Given the description of an element on the screen output the (x, y) to click on. 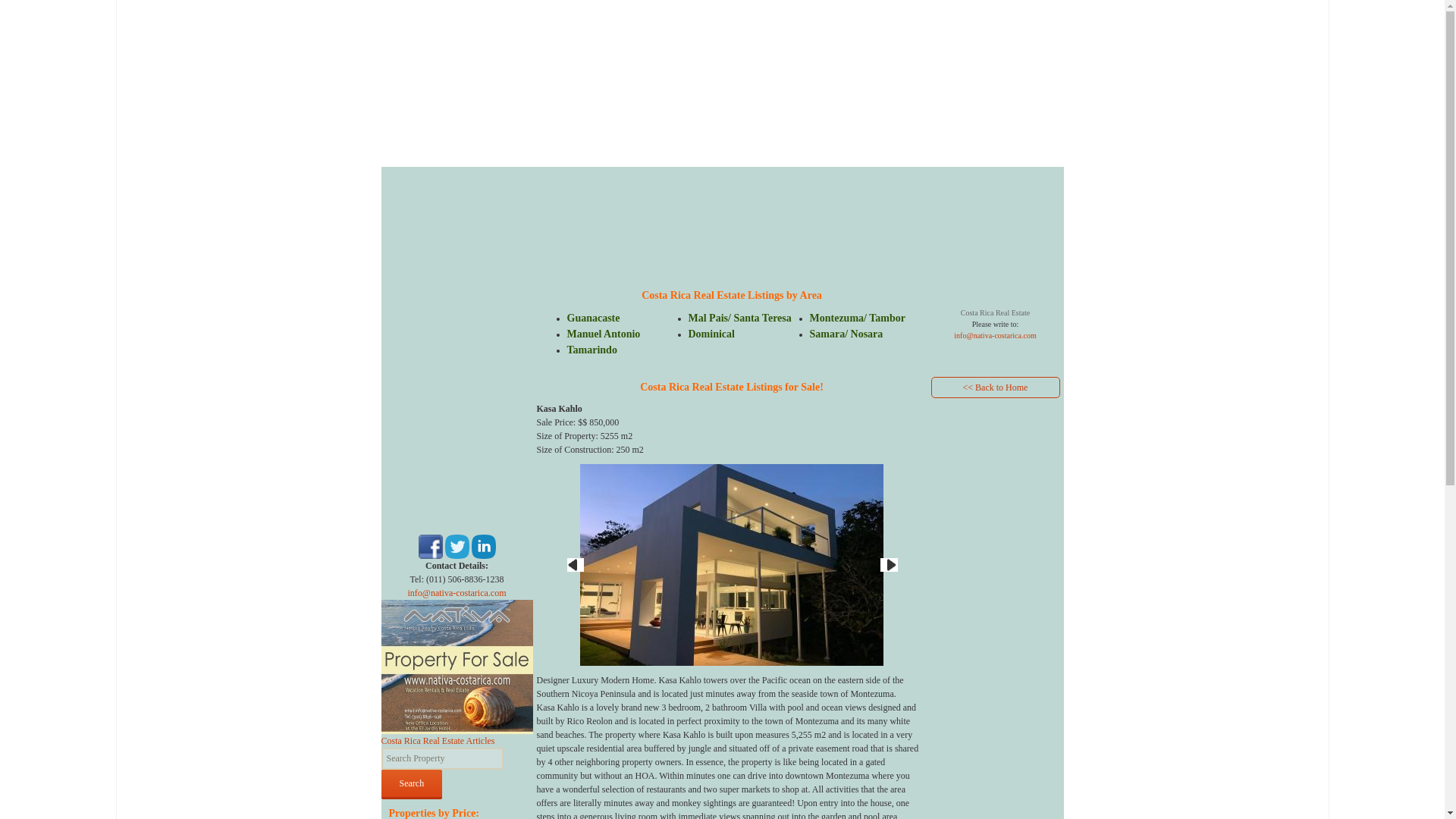
Search (411, 784)
Costa Rica Real Estate Articles (437, 740)
Manuel Antonio (603, 333)
Dominical (711, 333)
Next (889, 564)
Tamarindo (592, 349)
Search (411, 784)
Prev (575, 564)
Guanacaste (593, 317)
